Given the description of an element on the screen output the (x, y) to click on. 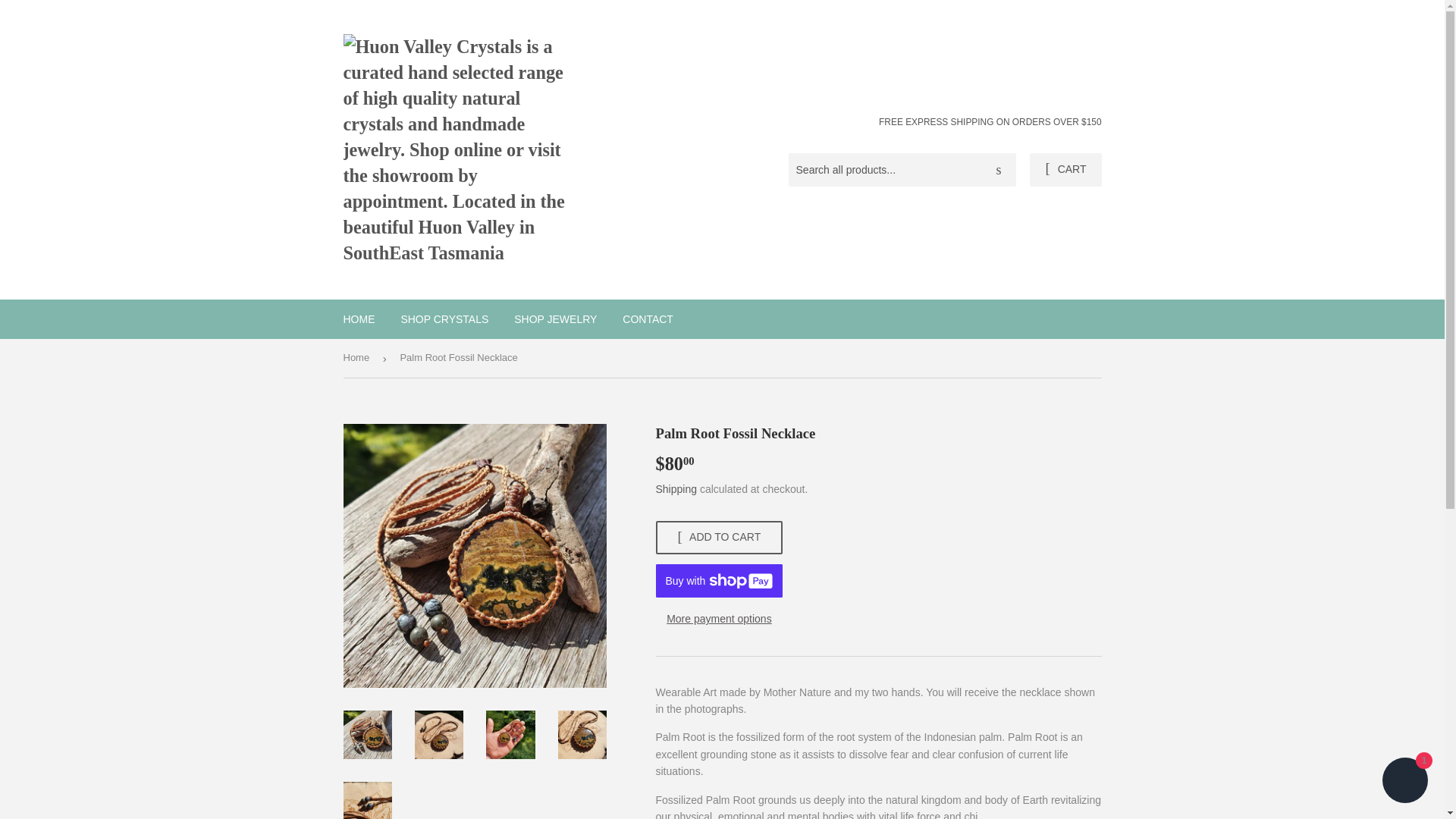
ADD TO CART (719, 537)
CART (1064, 169)
Shopify online store chat (1404, 781)
SHOP JEWELRY (555, 319)
HOME (359, 319)
Shipping (676, 489)
CONTACT (647, 319)
SHOP CRYSTALS (443, 319)
Search (998, 170)
More payment options (719, 618)
